Given the description of an element on the screen output the (x, y) to click on. 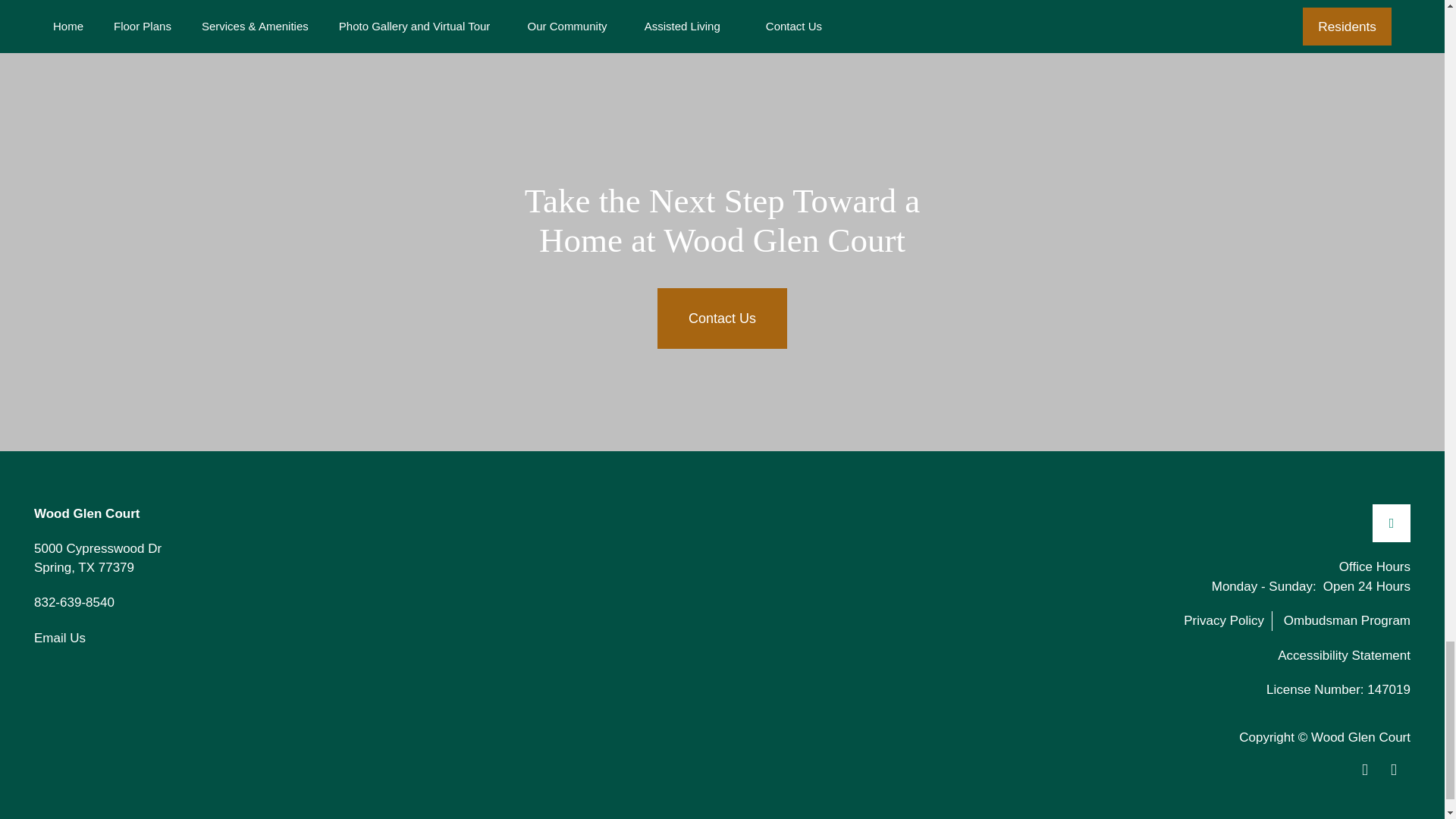
Property Phone Number (74, 604)
Contact Us (722, 318)
832-639-8540 (74, 604)
Email Us (59, 638)
Facebook (97, 558)
